Given the description of an element on the screen output the (x, y) to click on. 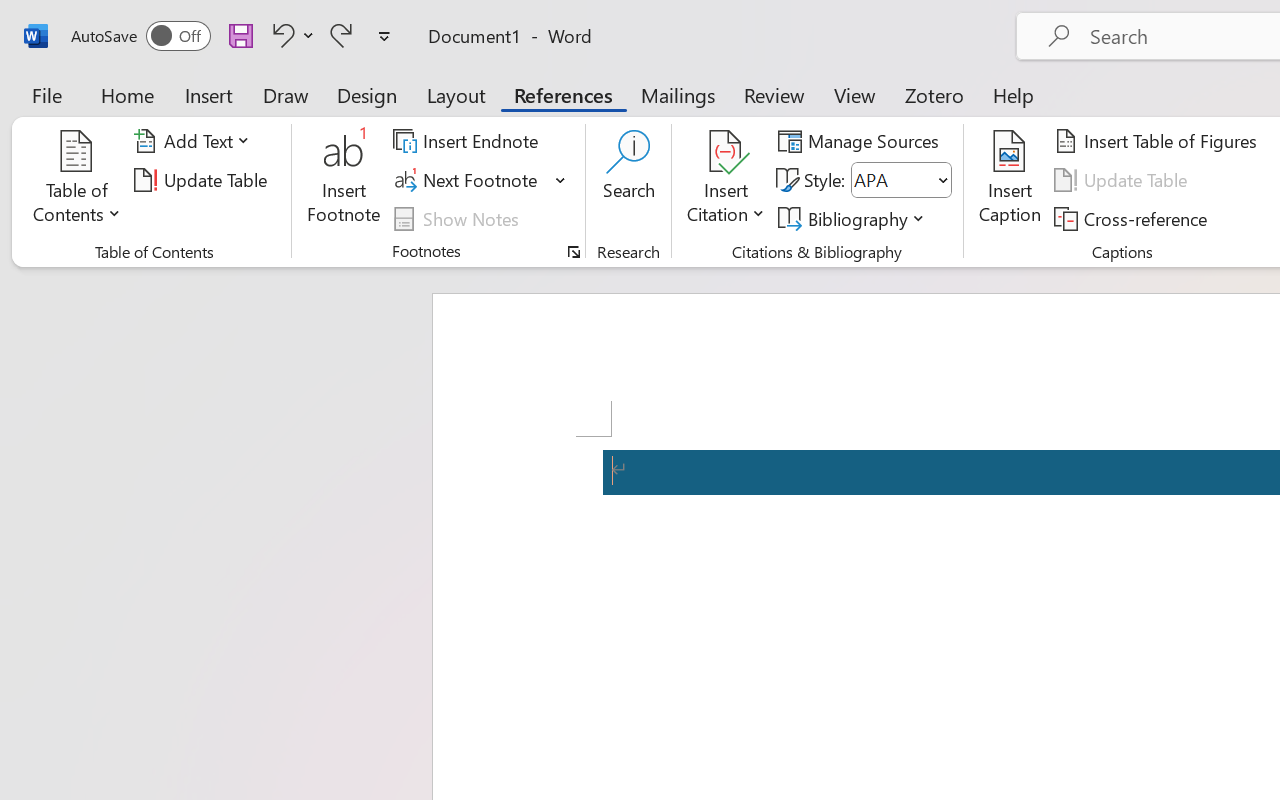
Footnote and Endnote Dialog... (573, 252)
Undo Apply Quick Style Set (280, 35)
Table of Contents (77, 179)
Insert Caption... (1009, 180)
Show Notes (459, 218)
Cross-reference... (1133, 218)
